Given the description of an element on the screen output the (x, y) to click on. 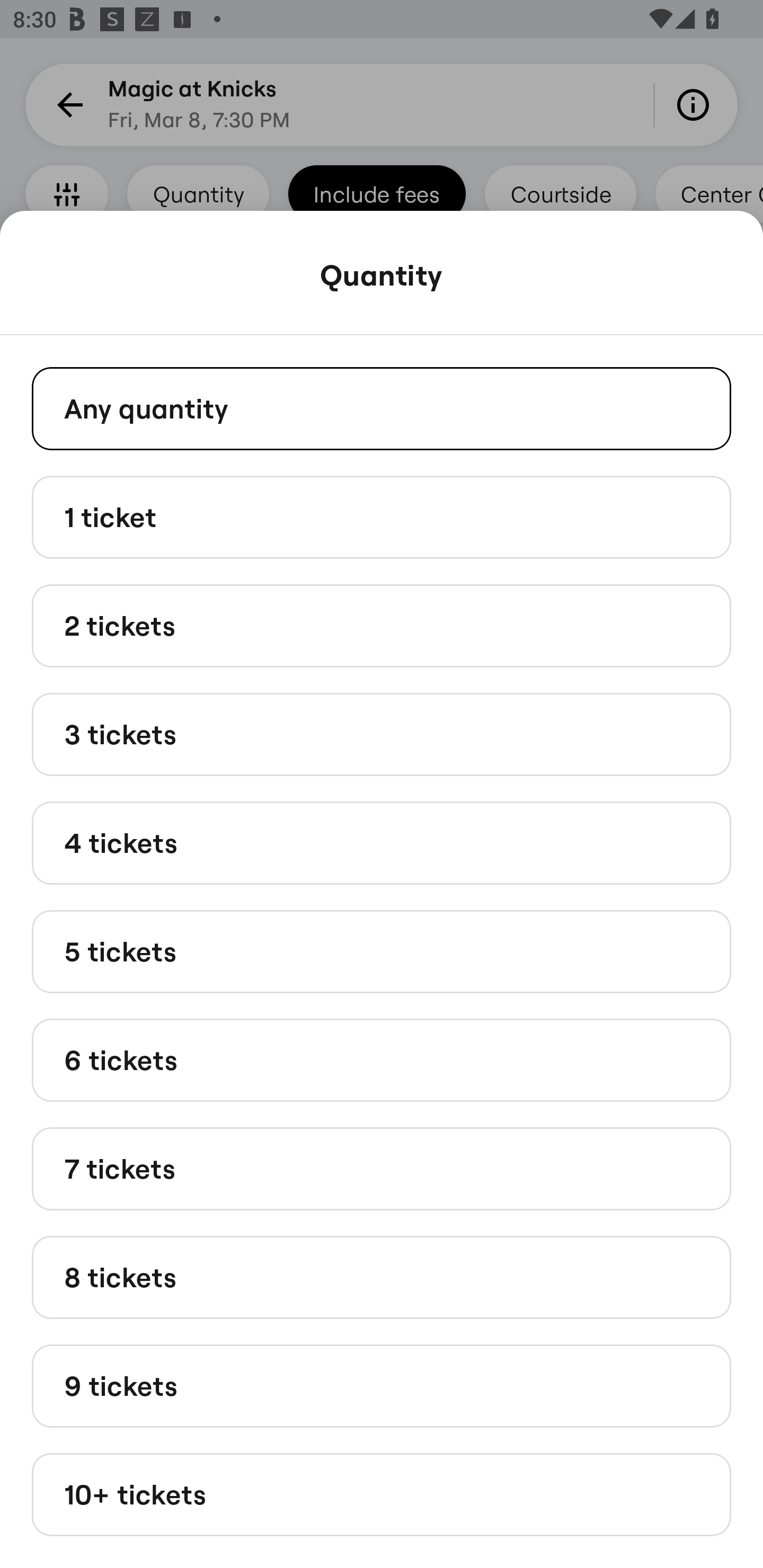
Any quantity (381, 408)
1 ticket (381, 516)
2 tickets (381, 625)
3 tickets (381, 734)
4 tickets (381, 842)
5 tickets (381, 950)
6 tickets (381, 1060)
7 tickets (381, 1168)
8 tickets (381, 1276)
9 tickets (381, 1384)
10+ tickets (381, 1494)
